Given the description of an element on the screen output the (x, y) to click on. 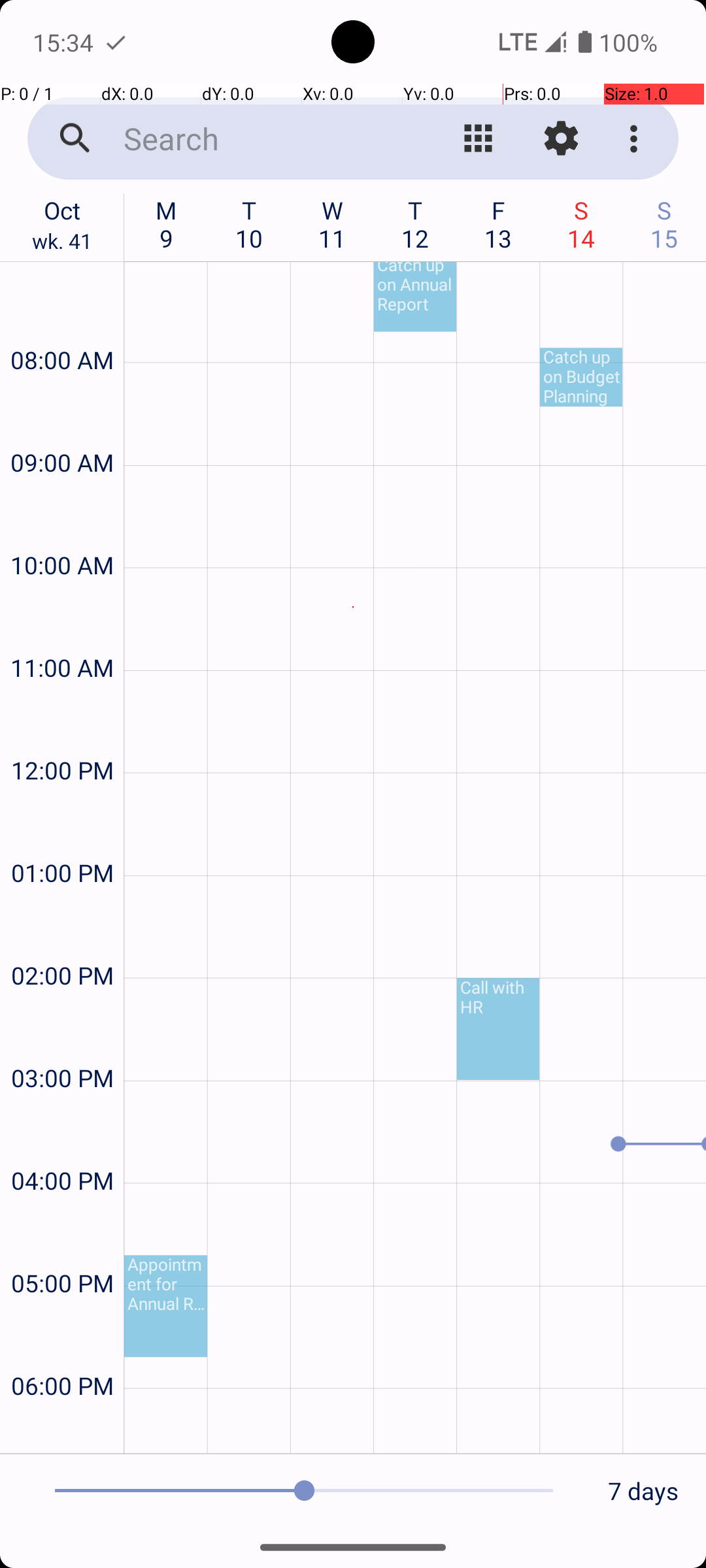
03:00 PM Element type: android.widget.TextView (62, 1042)
05:00 PM Element type: android.widget.TextView (62, 1247)
06:00 PM Element type: android.widget.TextView (62, 1350)
07:00 PM Element type: android.widget.TextView (62, 1428)
